Given the description of an element on the screen output the (x, y) to click on. 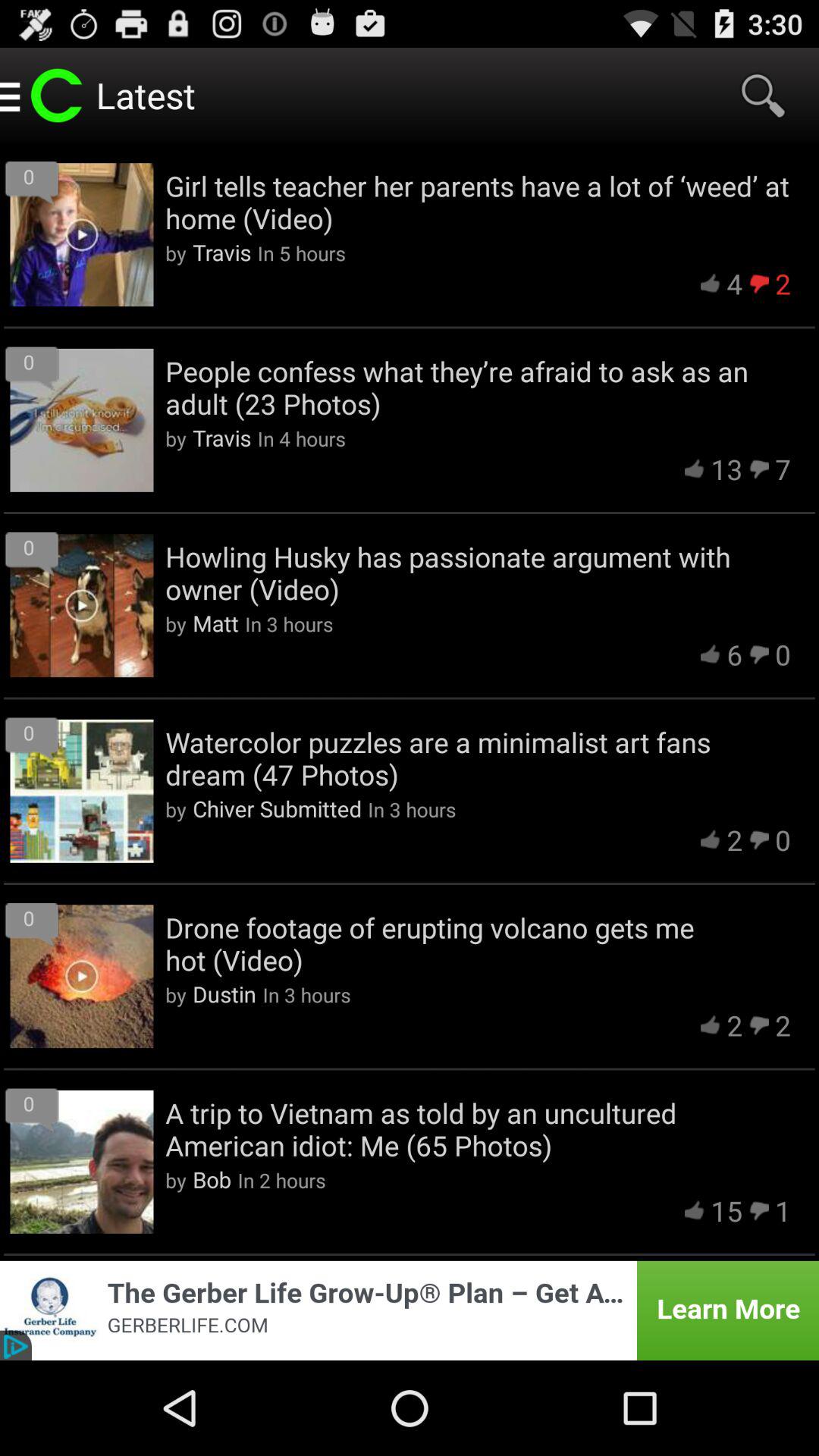
advertisement (409, 1310)
